Given the description of an element on the screen output the (x, y) to click on. 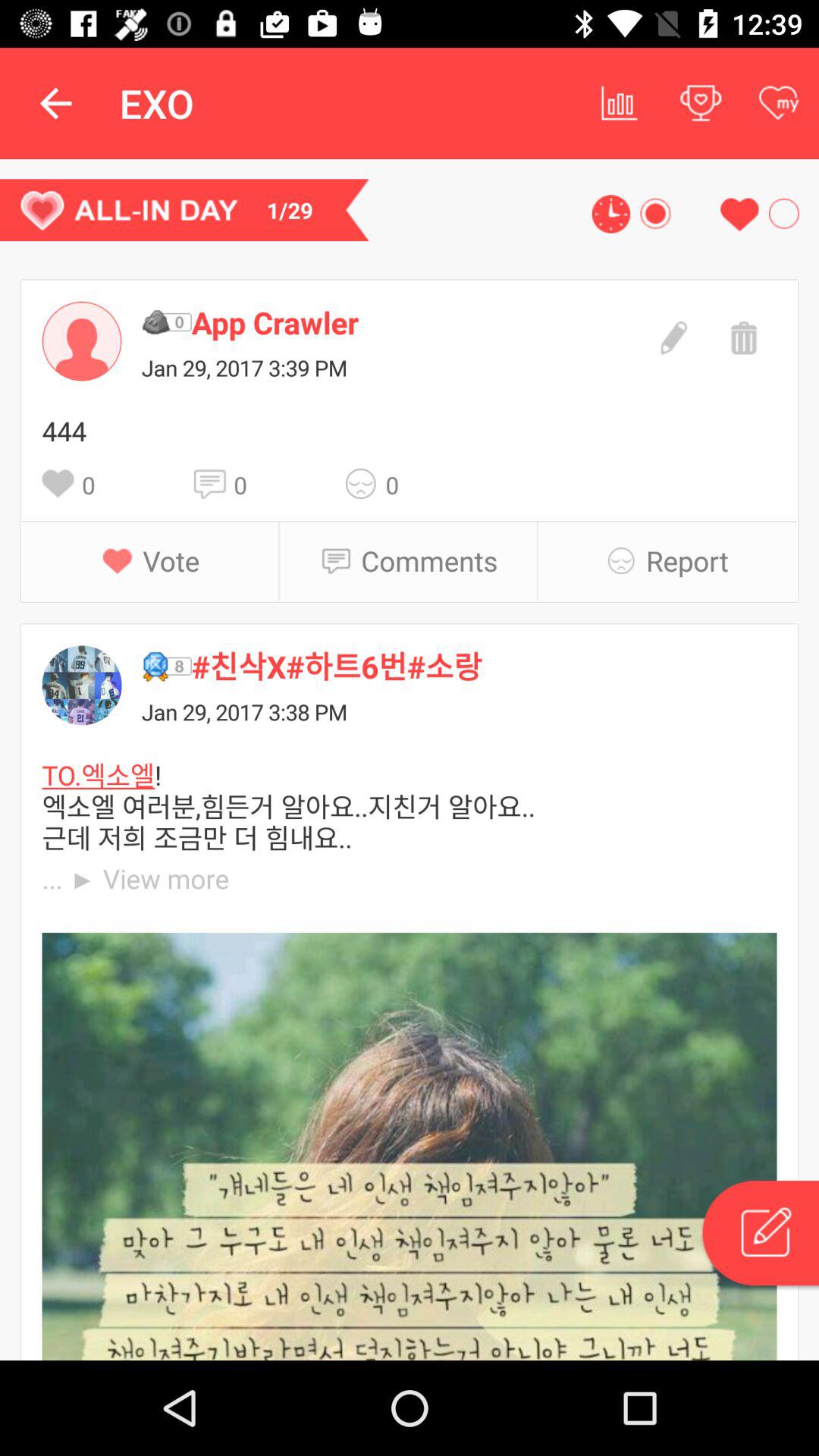
select the heart symbol which is in pink color beside vote (122, 560)
